Given the description of an element on the screen output the (x, y) to click on. 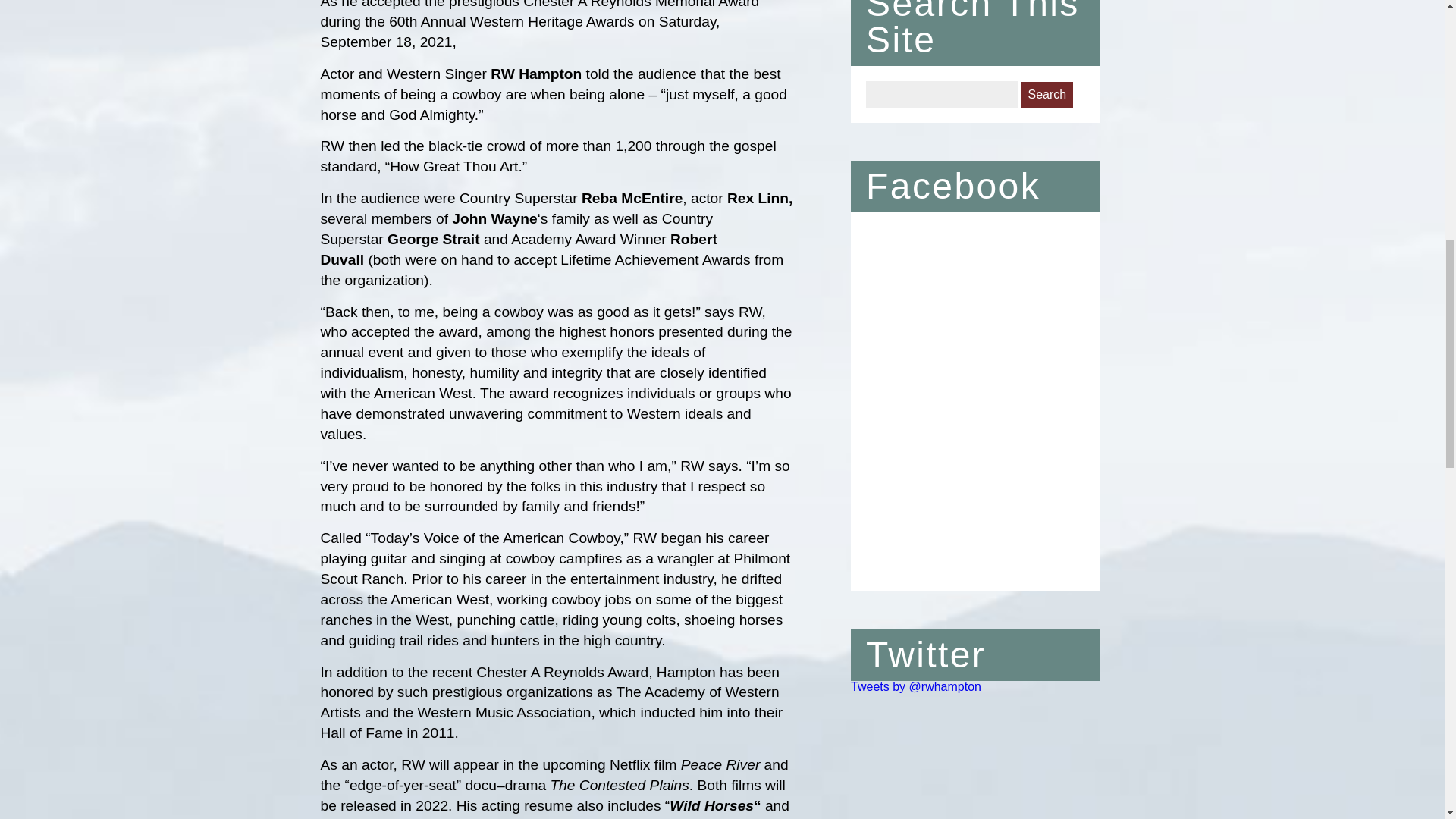
Search (1048, 94)
Search (1048, 94)
